Given the description of an element on the screen output the (x, y) to click on. 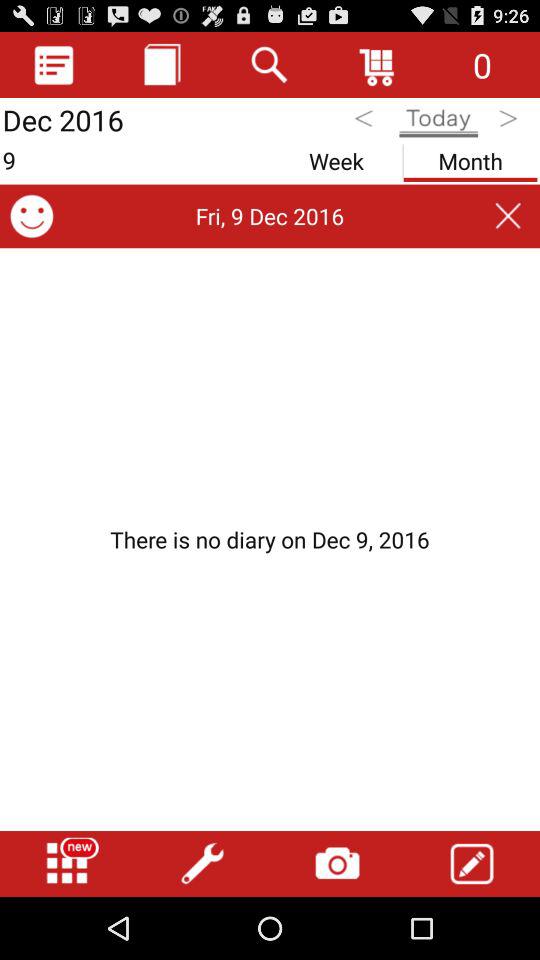
launch the app above the 9 item (161, 64)
